Given the description of an element on the screen output the (x, y) to click on. 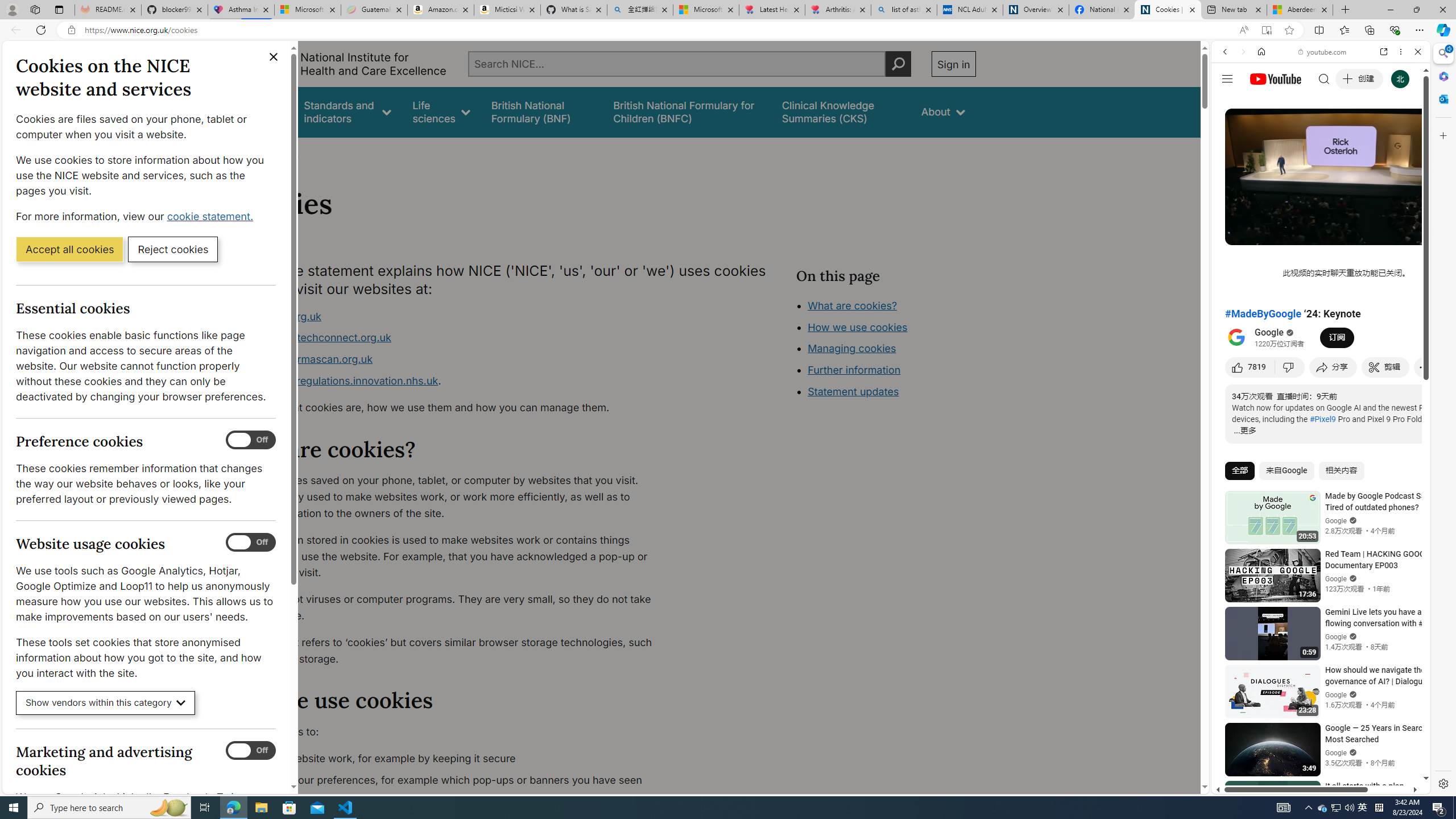
www.digitalregulations.innovation.nhs.uk (338, 380)
Reject cookies (173, 248)
list of asthma inhalers uk - Search (904, 9)
Click to scroll right (1407, 456)
Managing cookies (852, 348)
This site scope (1259, 102)
Life sciences (440, 111)
